Given the description of an element on the screen output the (x, y) to click on. 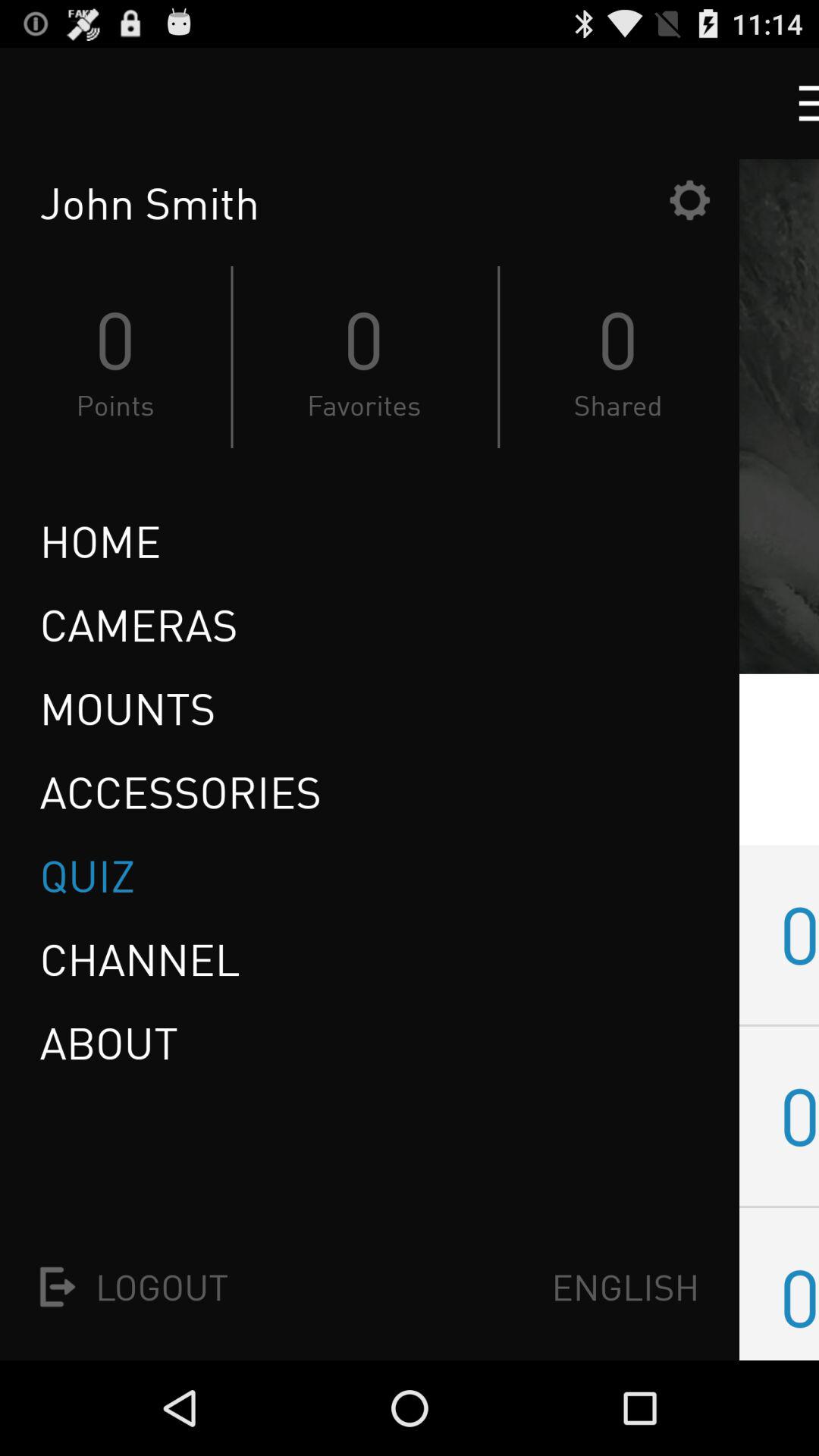
flip until the home icon (99, 541)
